Given the description of an element on the screen output the (x, y) to click on. 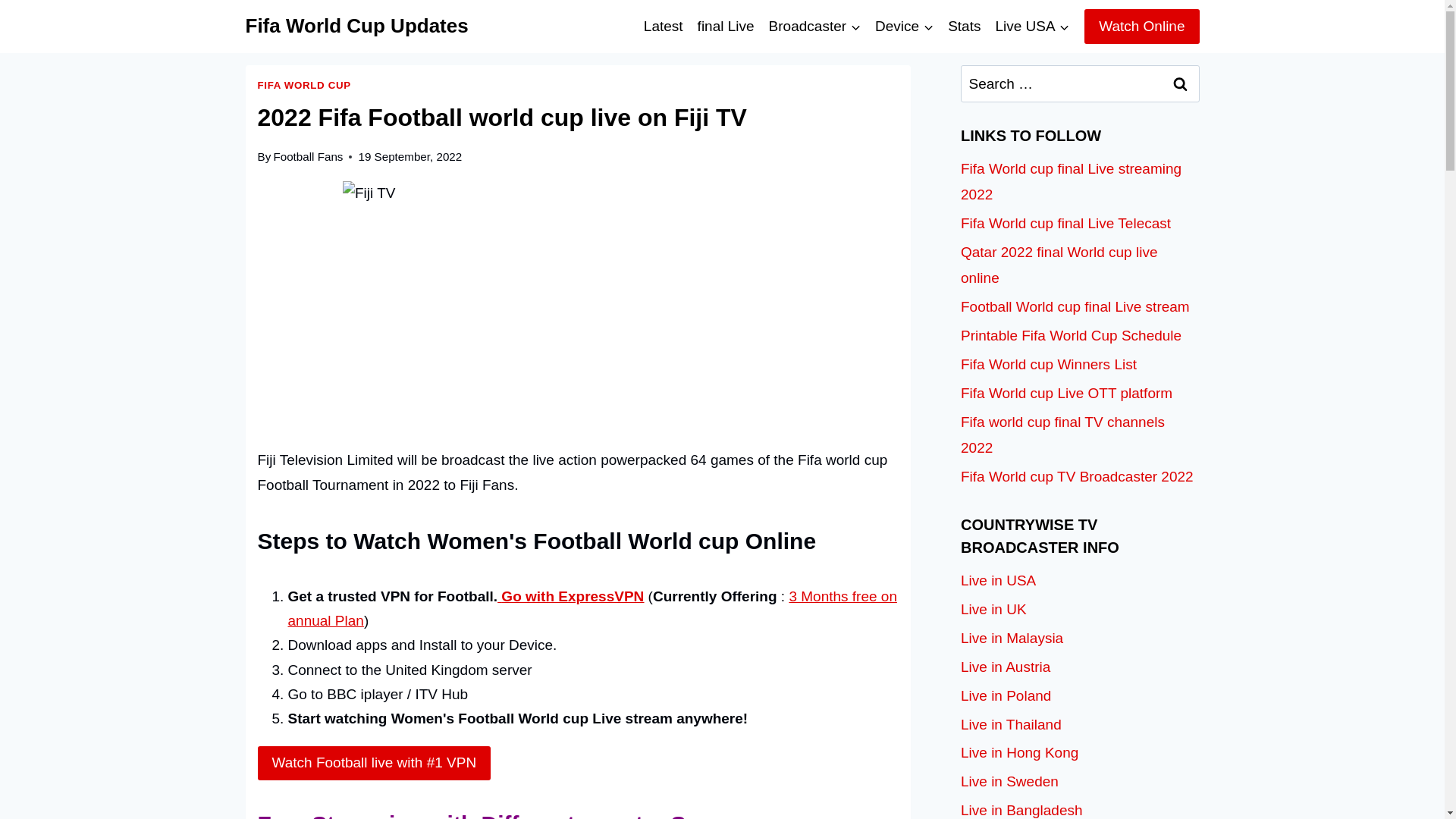
Latest (663, 25)
ExpressVPN Order (570, 596)
3 Months free on annual Plan (592, 608)
Football Fans (307, 155)
womens World cup Live Stream 2023 (725, 25)
Device (903, 25)
Watch Online (1141, 26)
Broadcaster (814, 25)
Fifa World Cup Updates (357, 25)
Search (1180, 83)
Stats (964, 25)
Live USA (1032, 25)
Fifa World cup Live on Various Device  (903, 25)
Fifa World cup Latest Updates (663, 25)
final Live (725, 25)
